Given the description of an element on the screen output the (x, y) to click on. 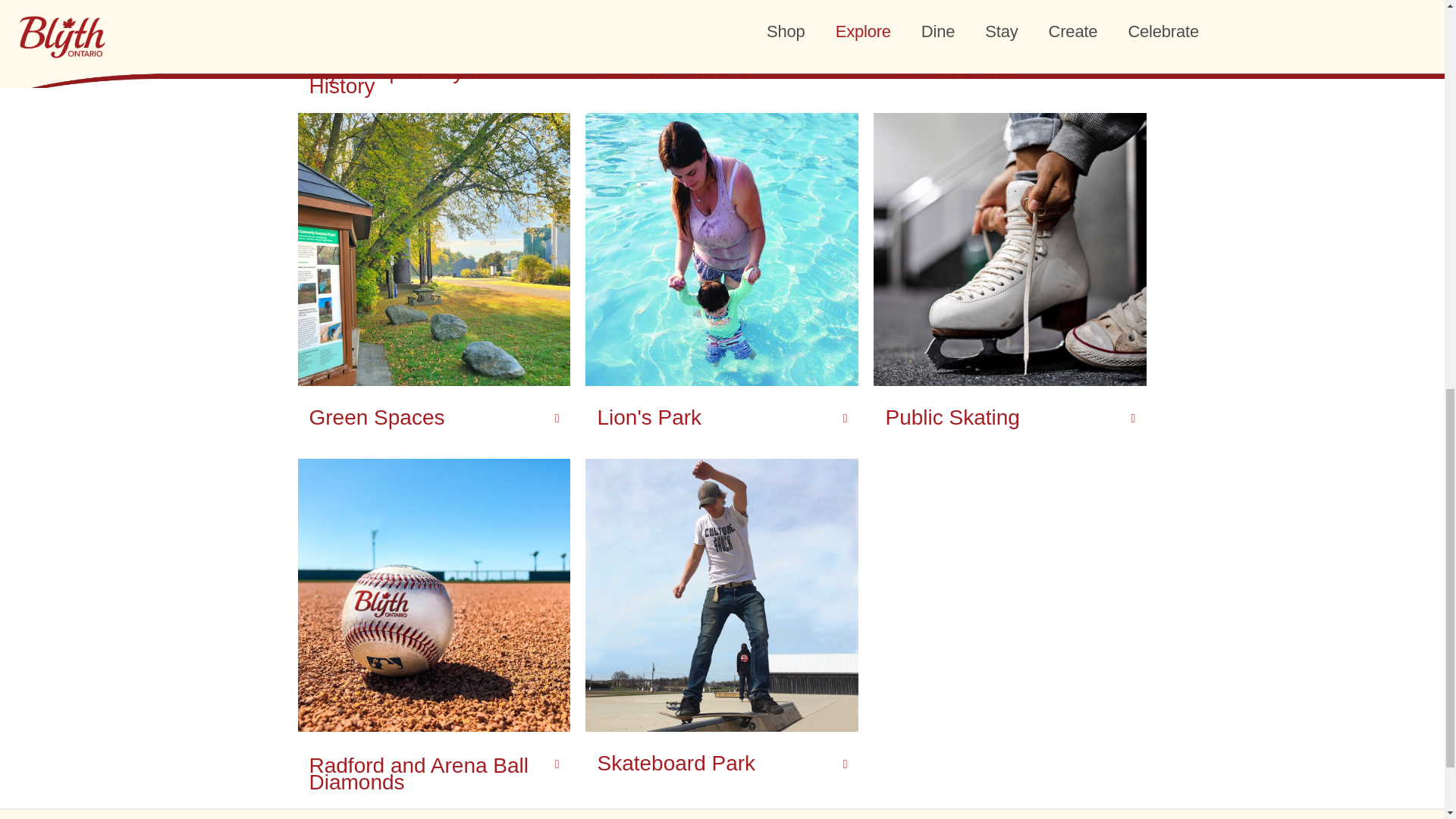
G2G Rail Trail (951, 71)
Blyth Repository of History (397, 78)
Fitness Classes (671, 71)
